Given the description of an element on the screen output the (x, y) to click on. 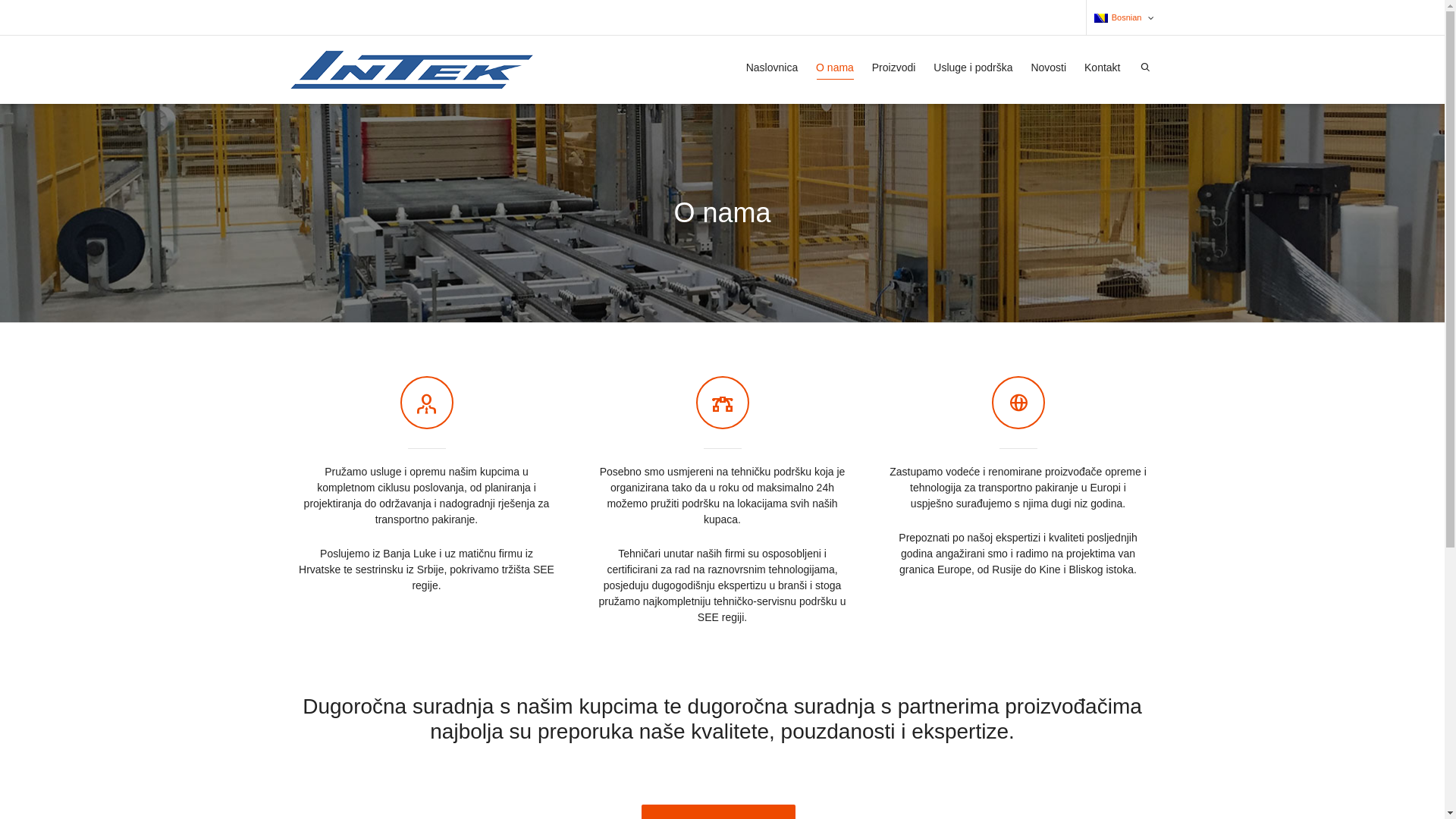
Kontakt Element type: text (1102, 67)
O nama Element type: text (834, 67)
Proizvodi Element type: text (894, 67)
Novosti Element type: text (1048, 67)
Bosnian Element type: text (1118, 17)
Naslovnica Element type: text (771, 67)
